Given the description of an element on the screen output the (x, y) to click on. 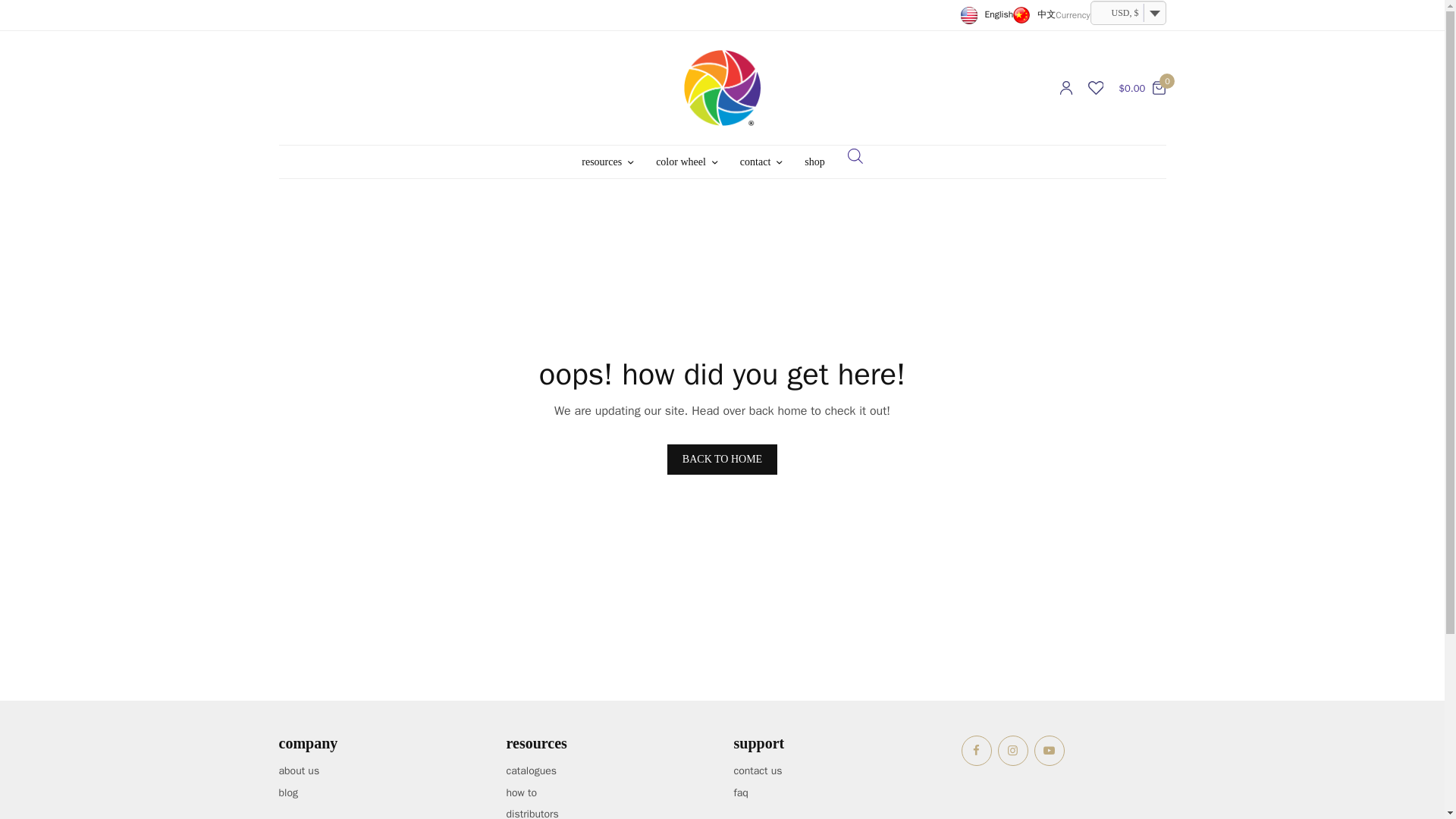
Chrysanthos (722, 87)
color wheel (686, 161)
about us (299, 770)
distributors (532, 813)
how to (521, 792)
English (986, 14)
contact us (758, 770)
catalogues (531, 770)
resources (606, 161)
contact (760, 161)
BACK TO HOME (721, 459)
blog (288, 792)
faq (740, 792)
